Given the description of an element on the screen output the (x, y) to click on. 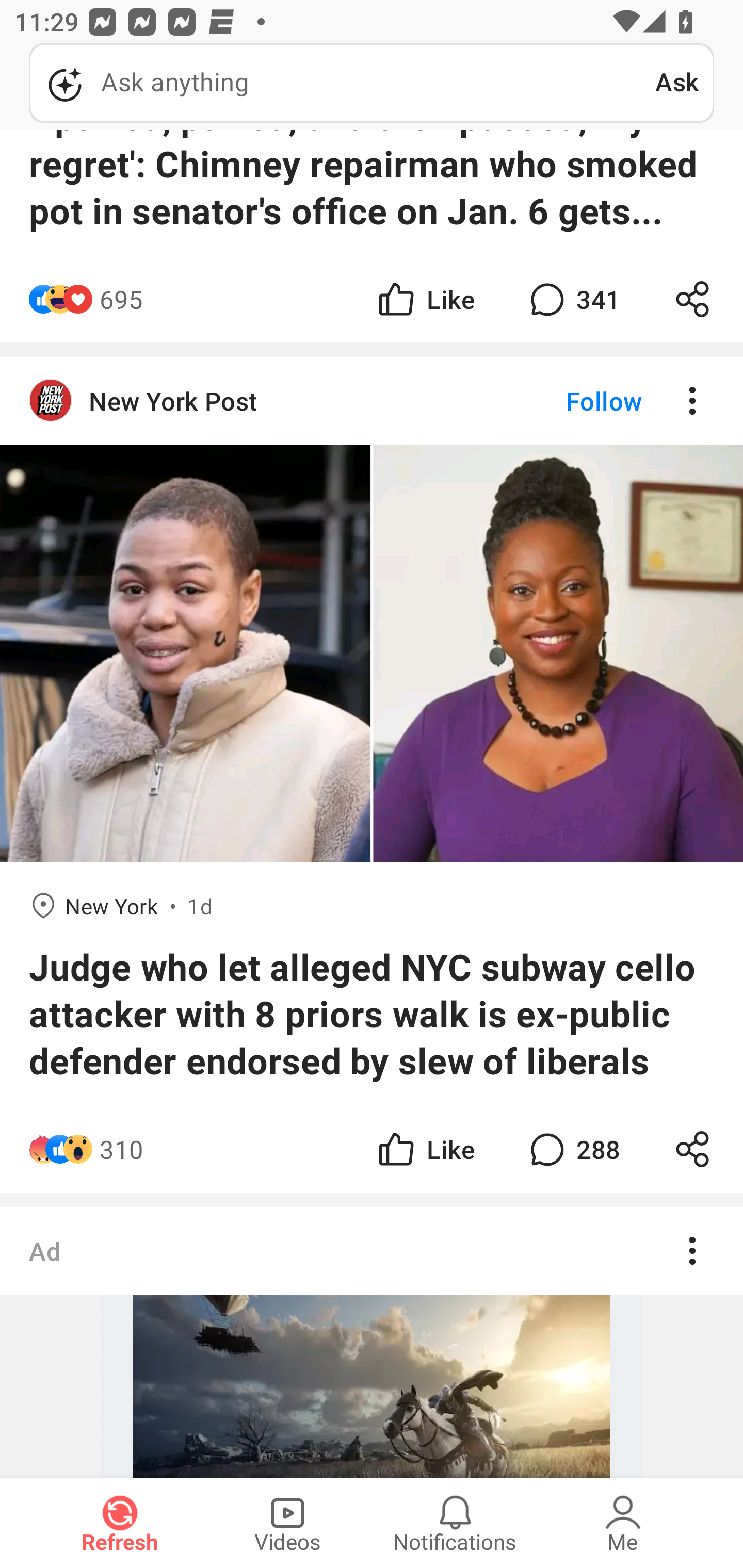
Ask anything (341, 82)
695 (121, 298)
Like (425, 298)
341 (572, 298)
New York Post Follow (371, 401)
Follow (569, 401)
310 (121, 1149)
Like (425, 1149)
288 (572, 1149)
Videos (287, 1522)
Notifications (455, 1522)
Me (622, 1522)
